Given the description of an element on the screen output the (x, y) to click on. 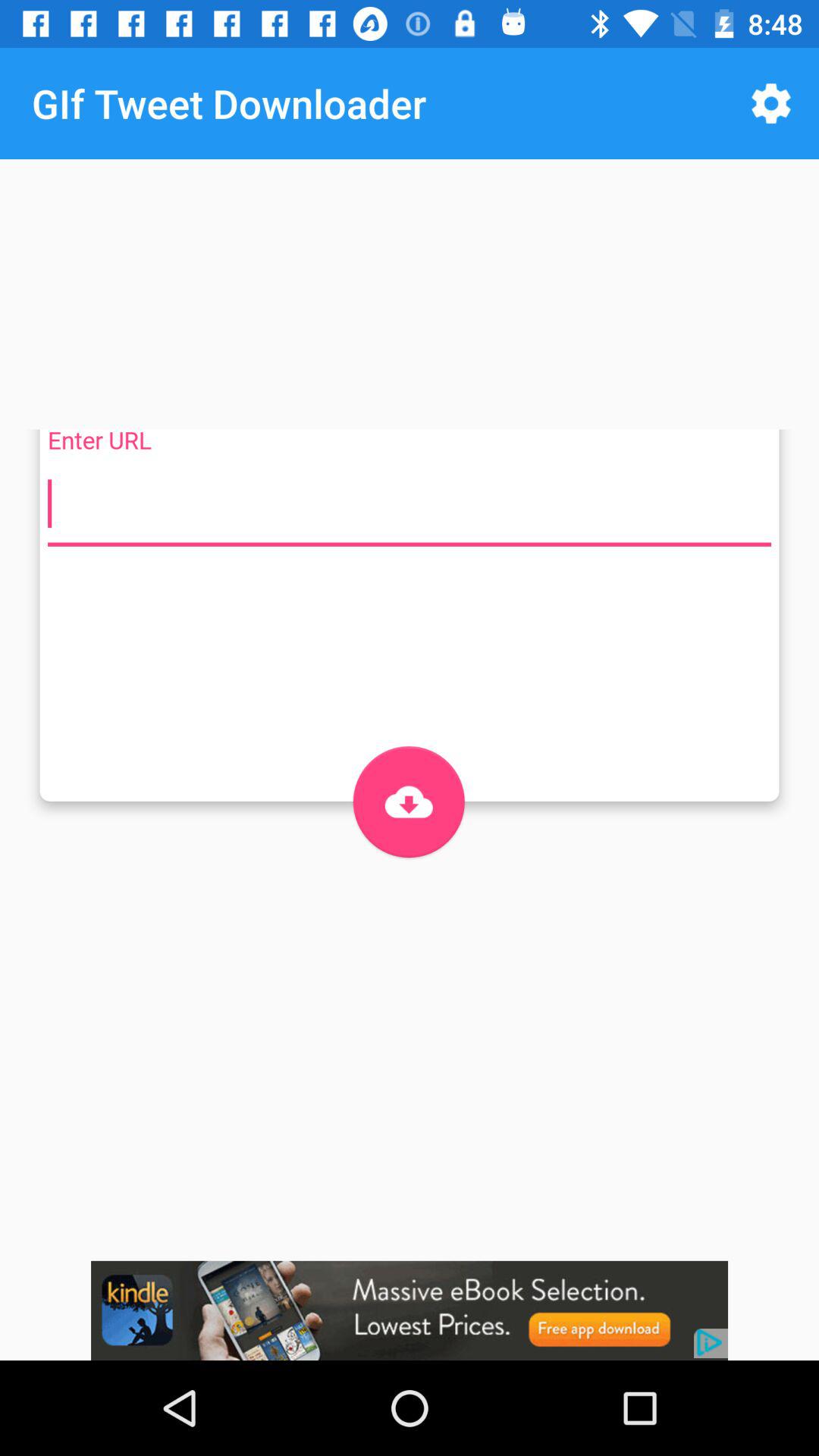
enter url number (409, 504)
